Given the description of an element on the screen output the (x, y) to click on. 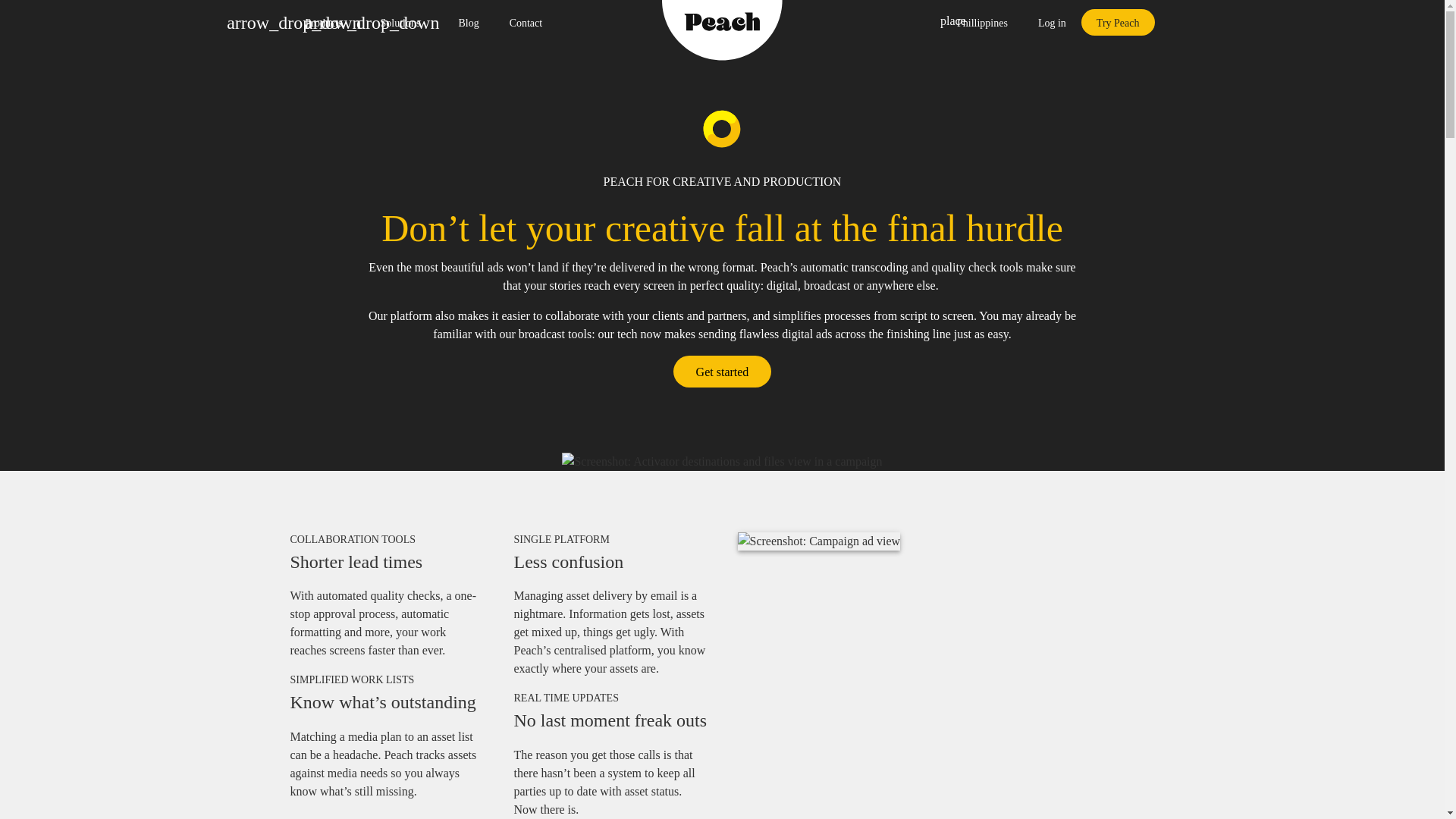
Contact (526, 22)
Blog (978, 22)
